Given the description of an element on the screen output the (x, y) to click on. 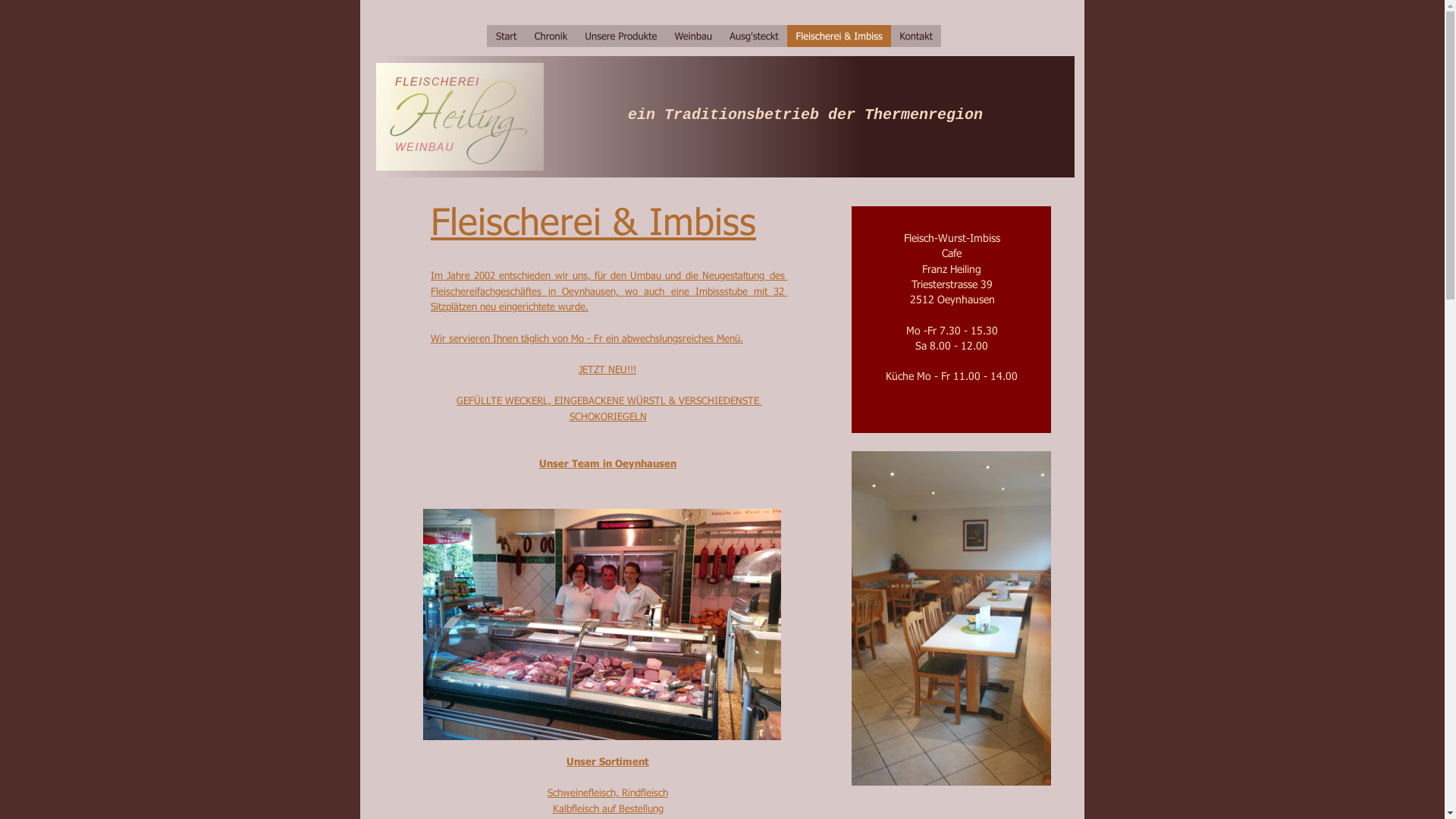
Imbissstube   Element type: text (724, 291)
Oeynhausen,   Element type: text (592, 291)
auch   Element type: text (656, 291)
uns,   Element type: text (584, 275)
und   Element type: text (676, 275)
Fleischerei & Imbiss Element type: text (593, 219)
wir   Element type: text (564, 275)
entschieden   Element type: text (527, 275)
Schweinefleisch, Rindfleisch Element type: text (607, 792)
Im   Element type: text (439, 275)
wo   Element type: text (633, 291)
Jahre   Element type: text (461, 275)
den   Element type: text (621, 275)
des  Element type: text (778, 275)
die   Element type: text (694, 275)
Kalbfleisch auf Bestellung Element type: text (607, 808)
mit   Element type: text (763, 291)
Unser Sortiment Element type: text (607, 761)
eine   Element type: text (683, 291)
Neugestaltung   Element type: text (736, 275)
JETZT NEU!!! Element type: text (607, 369)
Umbau   Element type: text (648, 275)
2002   Element type: text (487, 275)
Unser Team in Oeynhausen Element type: text (607, 463)
32  Element type: text (780, 291)
SCHOKORIEGELN Element type: text (607, 416)
in   Element type: text (554, 291)
